Given the description of an element on the screen output the (x, y) to click on. 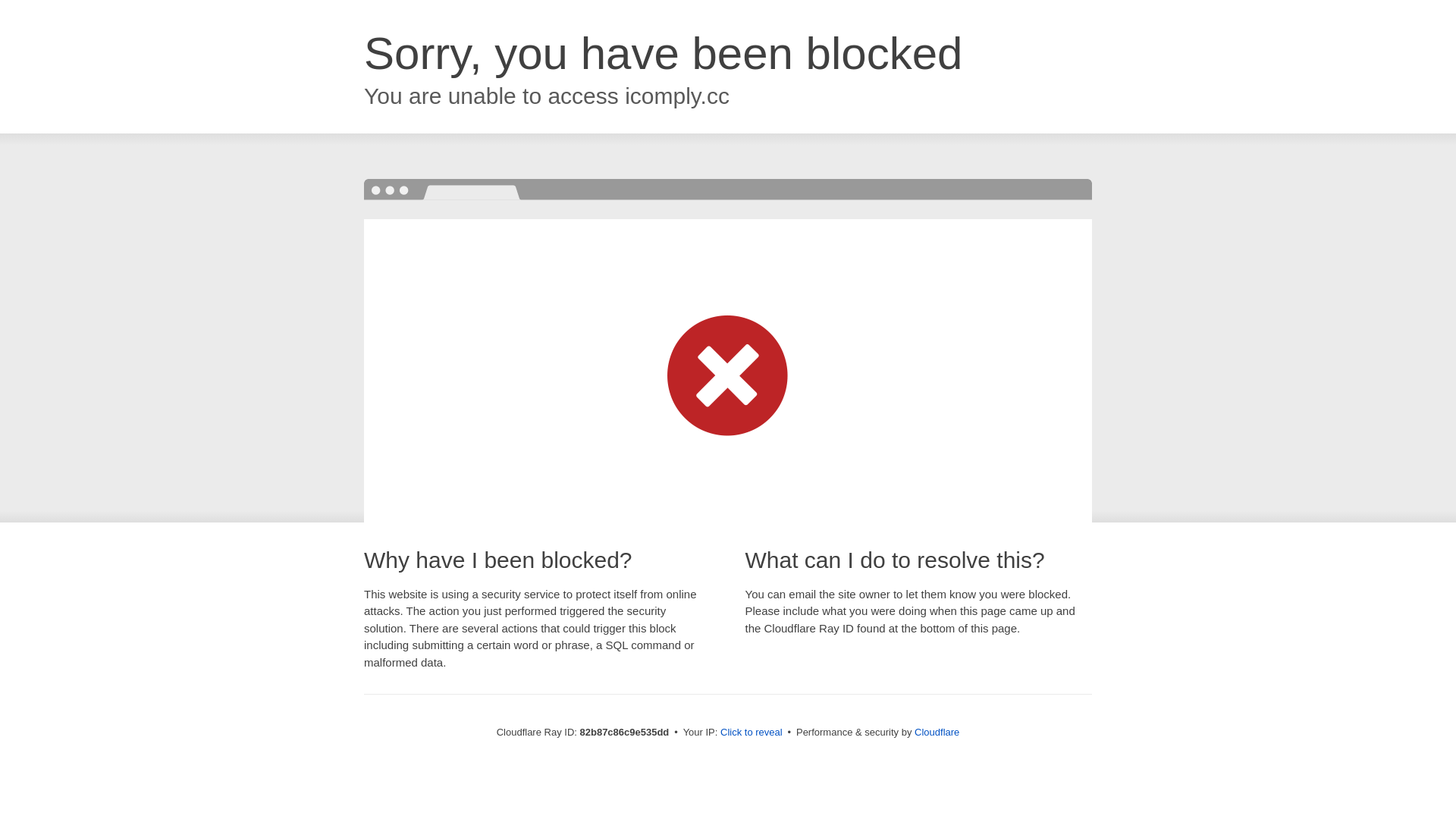
Cloudflare Element type: text (936, 731)
Click to reveal Element type: text (751, 732)
